Given the description of an element on the screen output the (x, y) to click on. 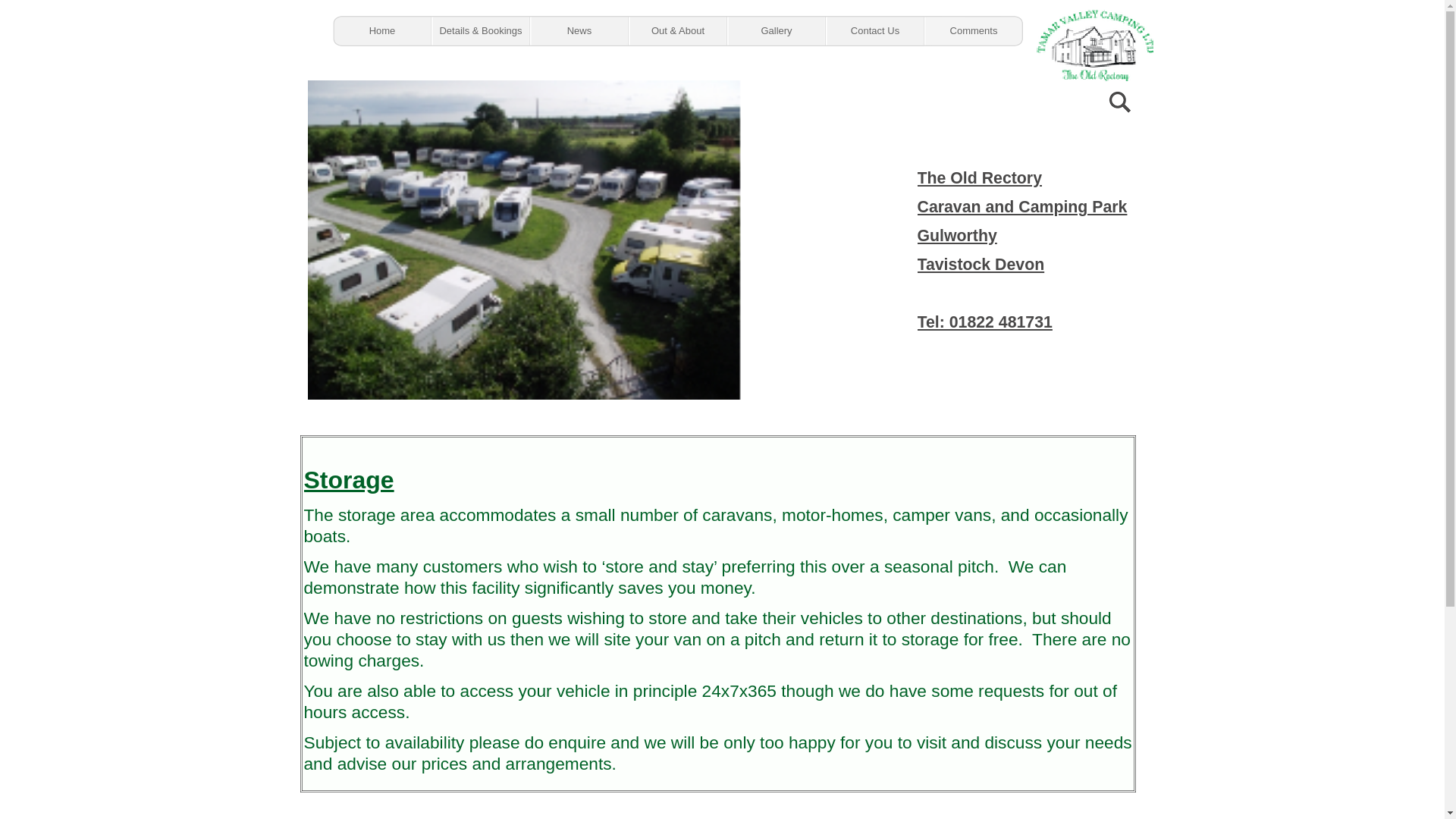
Home (380, 30)
The Old Rectory (979, 177)
News (578, 30)
Contact Us (874, 30)
Tel: 01822 481731 (984, 321)
Caravan and Camping Park (1021, 207)
Tavistock Devon (981, 264)
Gallery (775, 30)
Gulworthy (957, 235)
Comments (972, 30)
